Given the description of an element on the screen output the (x, y) to click on. 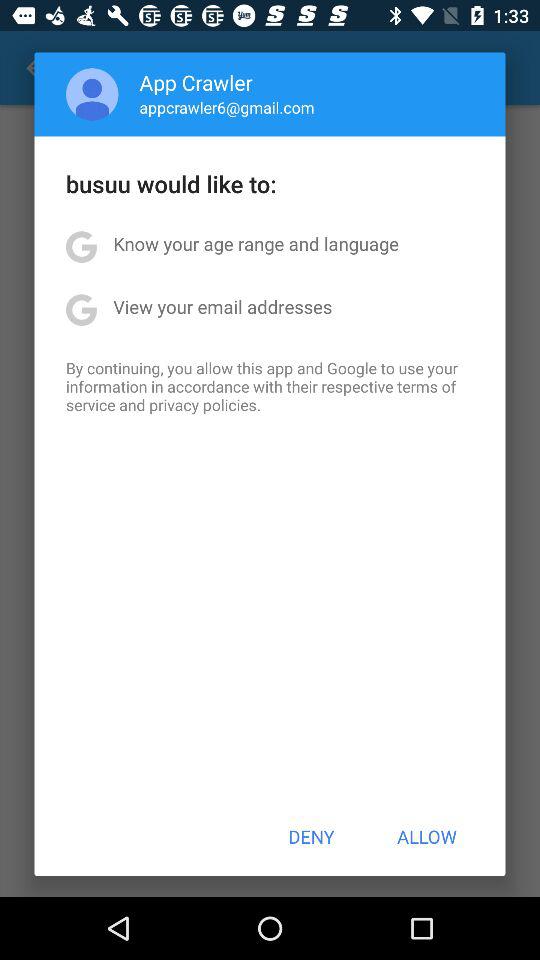
turn on item above busuu would like app (92, 94)
